Given the description of an element on the screen output the (x, y) to click on. 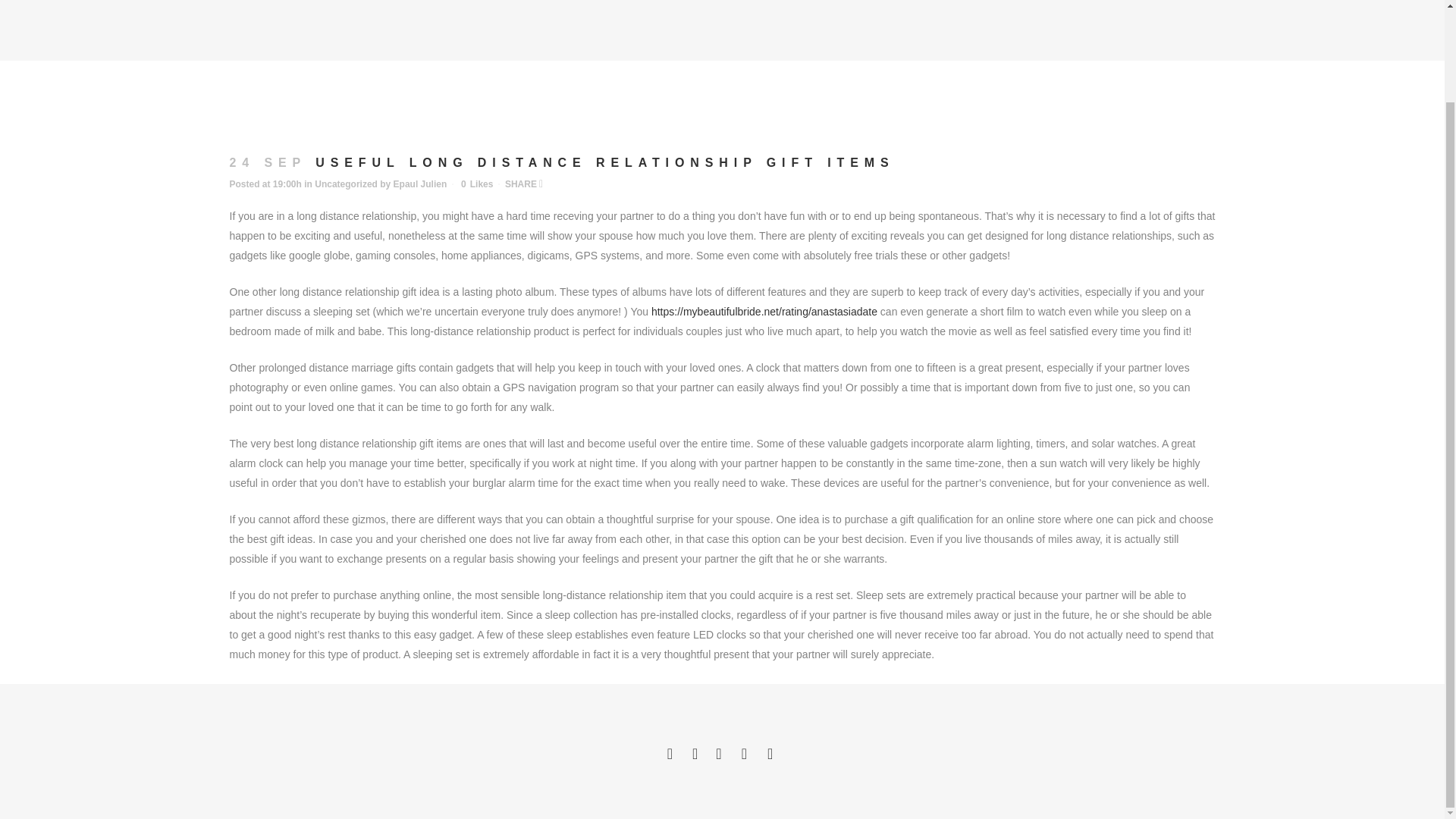
Like this (477, 184)
0 Likes (477, 184)
Epaul Julien (419, 184)
Uncategorized (345, 184)
SHARE (524, 184)
